Given the description of an element on the screen output the (x, y) to click on. 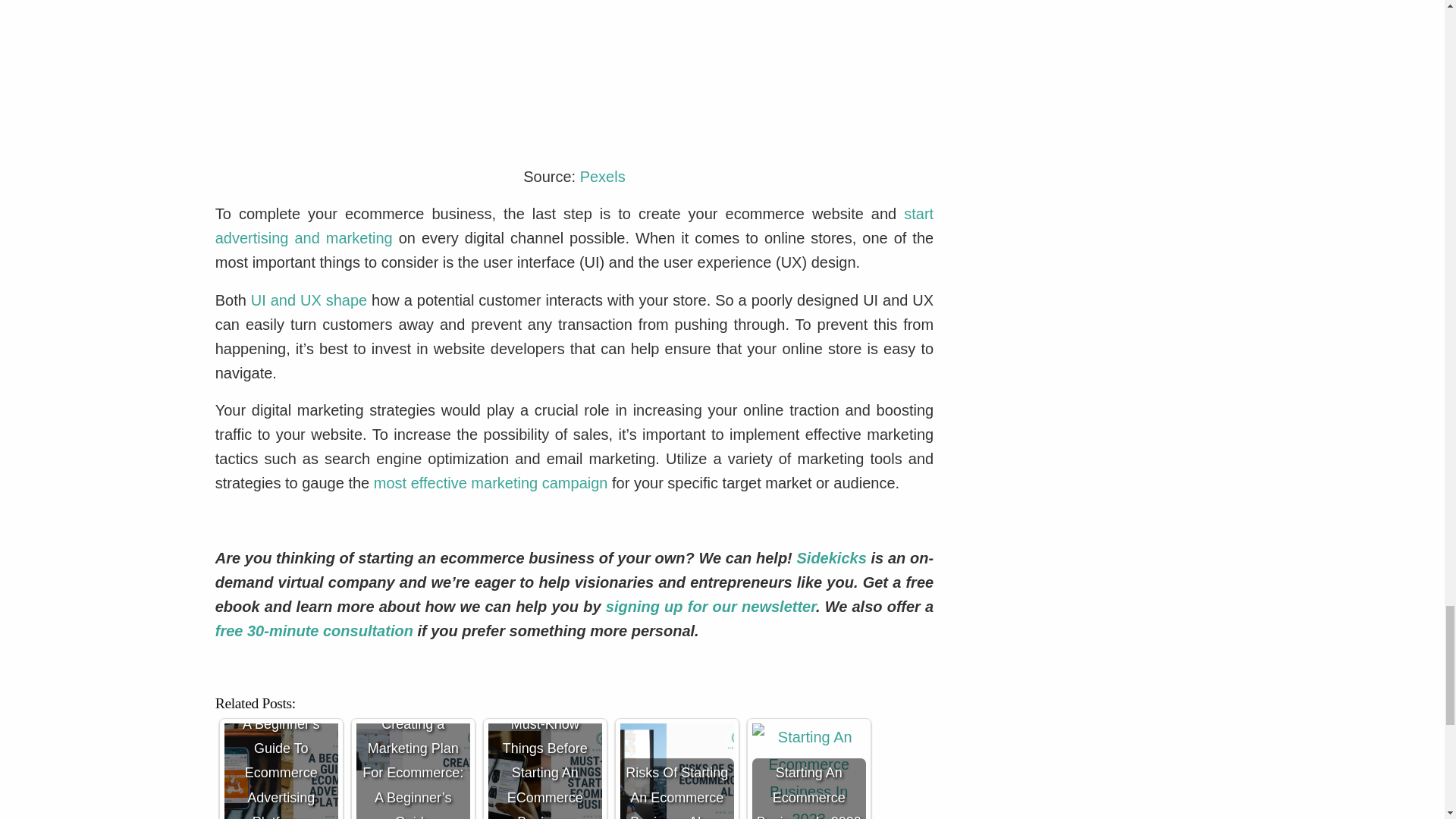
Starting An Ecommerce Business In 2023 (809, 771)
Sidekicks (831, 557)
Risks Of Starting An Ecommerce Business Alone (676, 771)
signing up for our newsletter (708, 606)
start advertising and marketing (574, 225)
Pexels (602, 176)
Starting An Ecommerce Business In 2023 (809, 771)
Must-Know Things Before Starting An ECommerce Business (544, 771)
UI and UX shape (308, 299)
free 30-minute consultation (314, 630)
